Given the description of an element on the screen output the (x, y) to click on. 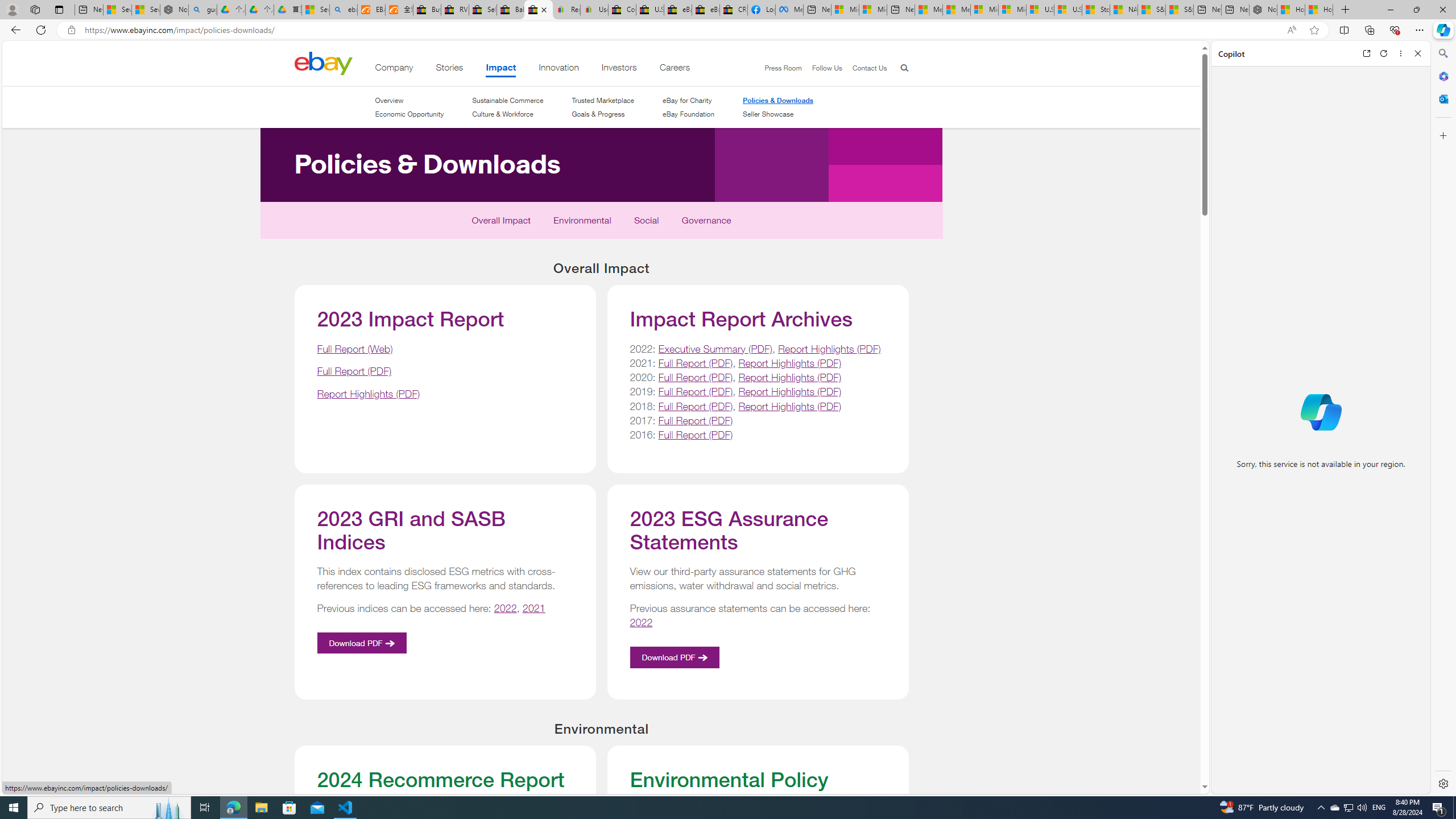
Impact (501, 69)
Stories (449, 69)
Company (393, 69)
U.S. State Privacy Disclosures - eBay Inc. (649, 9)
Full Report (Web) (355, 348)
Sustainable Commerce (507, 100)
Register: Create a personal eBay account (566, 9)
Open link in new tab (1366, 53)
